Given the description of an element on the screen output the (x, y) to click on. 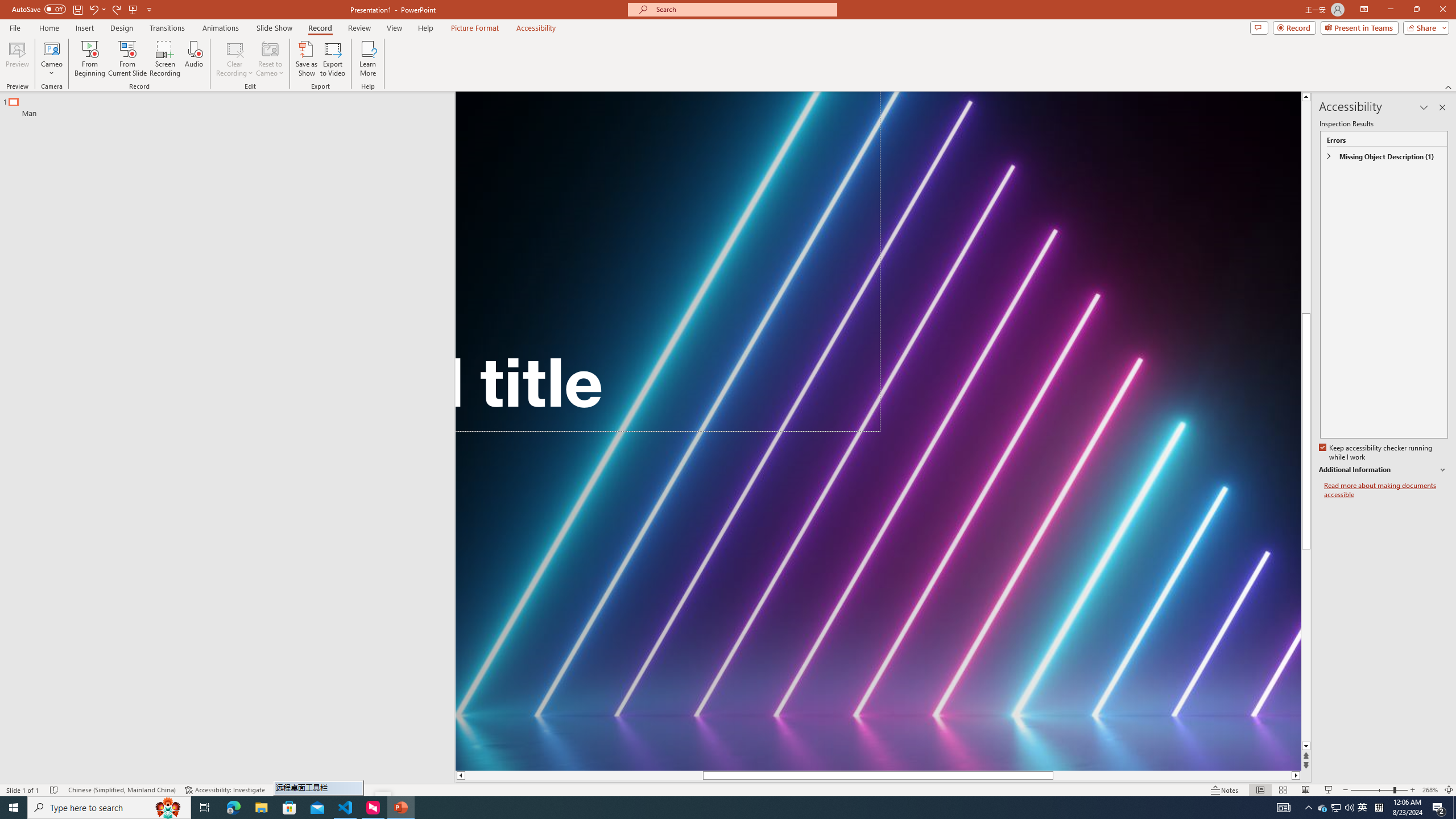
Notes  (1225, 790)
Rectangle (221, 437)
Restore Down (1416, 9)
Zoom to Fit  (1449, 790)
Minimize (1390, 9)
More Options (51, 68)
Cameo (51, 48)
Microsoft search (742, 9)
From Current Slide... (127, 58)
Save as Show (306, 58)
Redo (117, 9)
Task Pane Options (1423, 107)
Review (359, 28)
Design (122, 28)
